Given the description of an element on the screen output the (x, y) to click on. 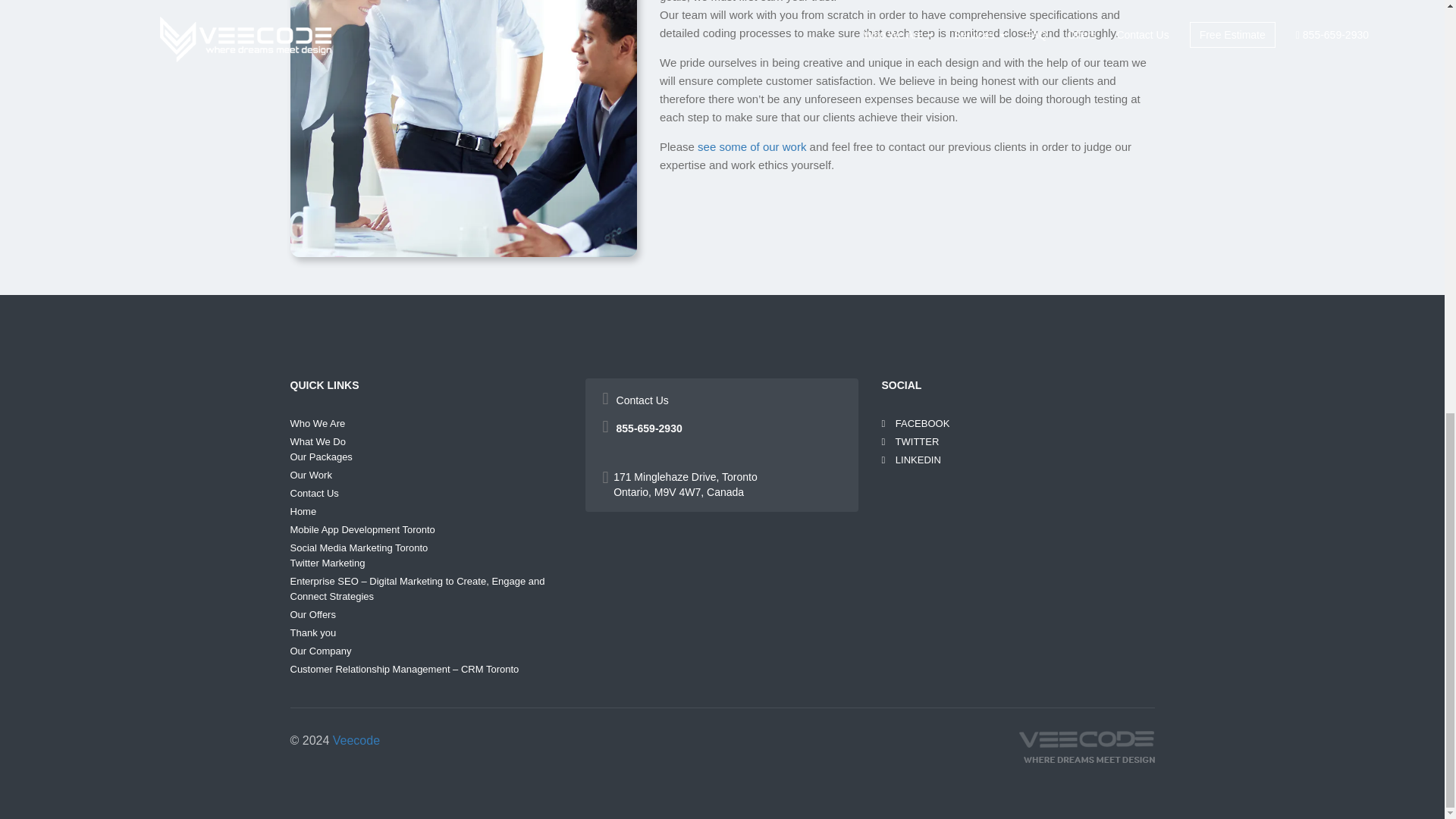
Social Media Marketing Toronto (358, 547)
What We Do (317, 441)
Our Work (310, 474)
Contact Us (313, 492)
Who We Are (317, 423)
Home (302, 511)
Twitter Marketing (327, 562)
Our Packages (320, 456)
see some of our work (751, 146)
Mobile App Development Toronto (361, 529)
